Given the description of an element on the screen output the (x, y) to click on. 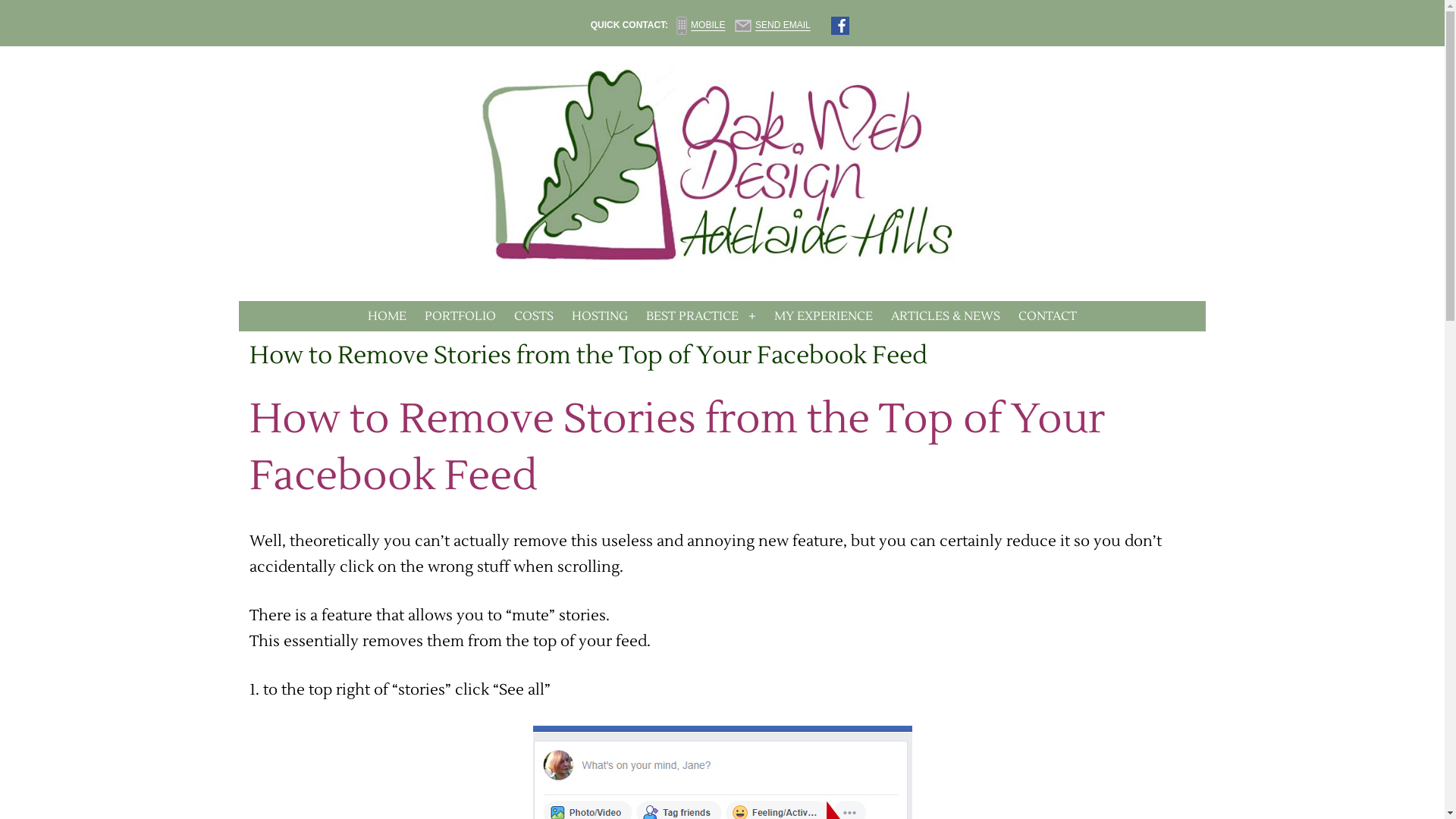
ARTICLES & NEWS Element type: text (945, 316)
Open menu Element type: text (752, 316)
MY EXPERIENCE Element type: text (823, 316)
SEND EMAIL Element type: text (773, 24)
CONTACT Element type: text (1047, 316)
PORTFOLIO Element type: text (460, 316)
COSTS Element type: text (533, 316)
MOBILE Element type: text (698, 24)
HOSTING Element type: text (599, 316)
HOME Element type: text (386, 316)
BEST PRACTICE Element type: text (692, 316)
Facebook Element type: hover (840, 25)
